Given the description of an element on the screen output the (x, y) to click on. 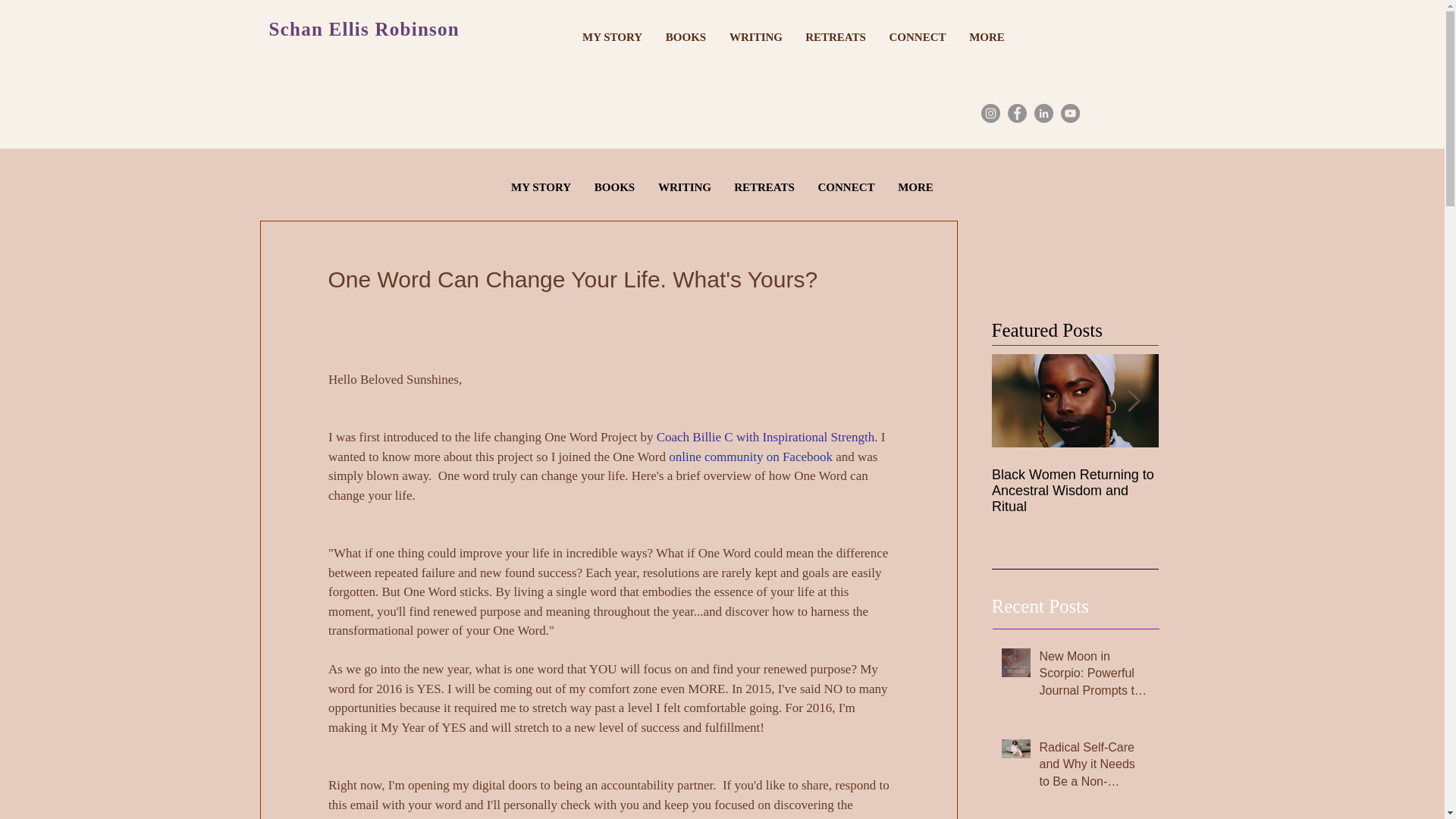
MY STORY (611, 36)
MY STORY (540, 187)
Black Women Returning to Ancestral Wisdom and Ritual (1074, 490)
BOOKS (685, 36)
Schan Ellis Robinson (363, 28)
RETREATS (835, 36)
WRITING (684, 187)
BOOKS (614, 187)
WRITING (755, 36)
Radical Self-Care and Why it Needs to Be a Non-Negotiable (1093, 767)
CONNECT (846, 187)
CONNECT (917, 36)
